Given the description of an element on the screen output the (x, y) to click on. 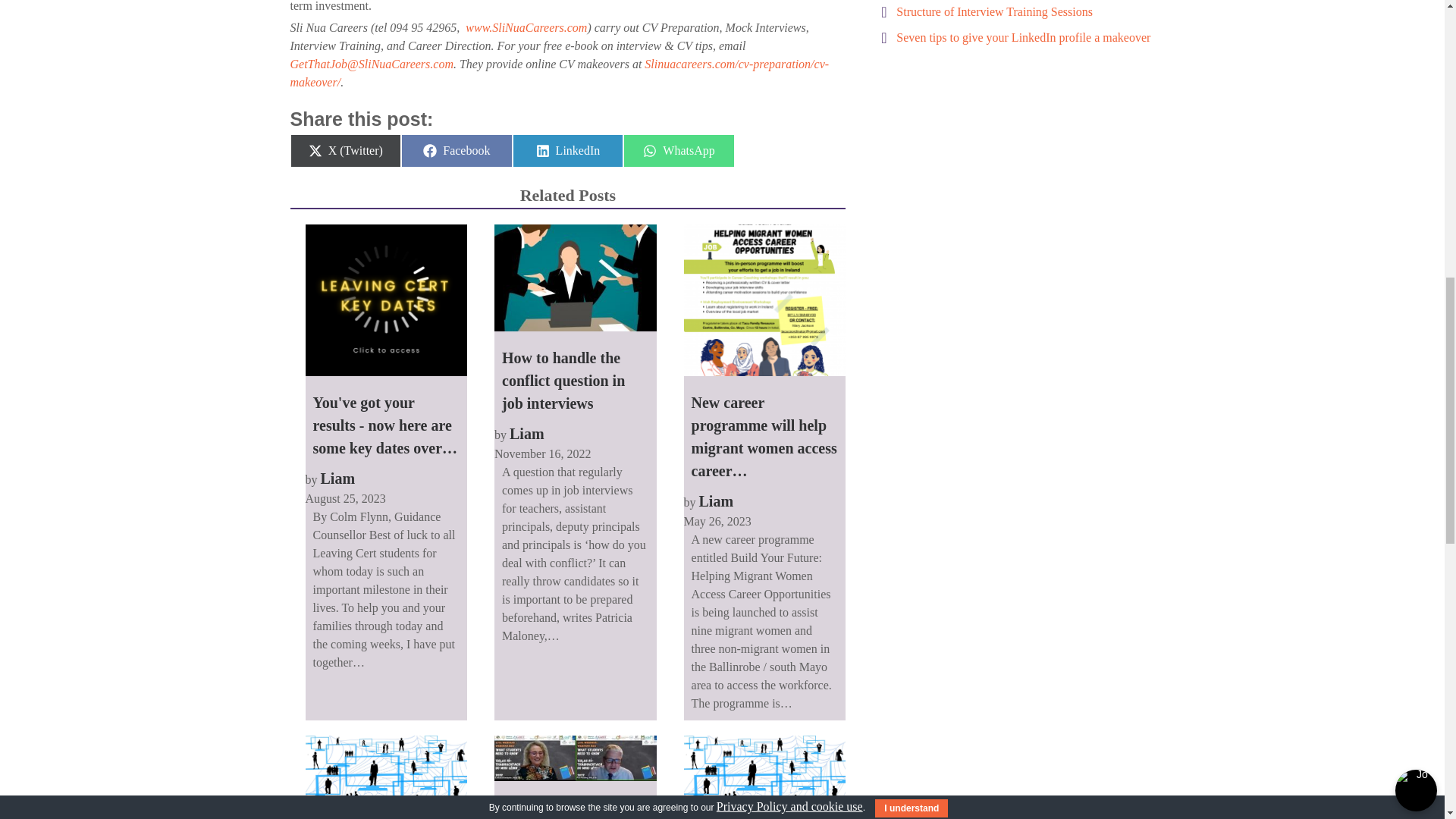
LinkedIn (568, 150)
WhatsApp (679, 150)
test test test test test (385, 777)
www.SliNuaCareers.com (525, 27)
Liam (526, 433)
Liam (337, 478)
Tips for writing a great personal statement (764, 777)
Facebook (456, 150)
